Given the description of an element on the screen output the (x, y) to click on. 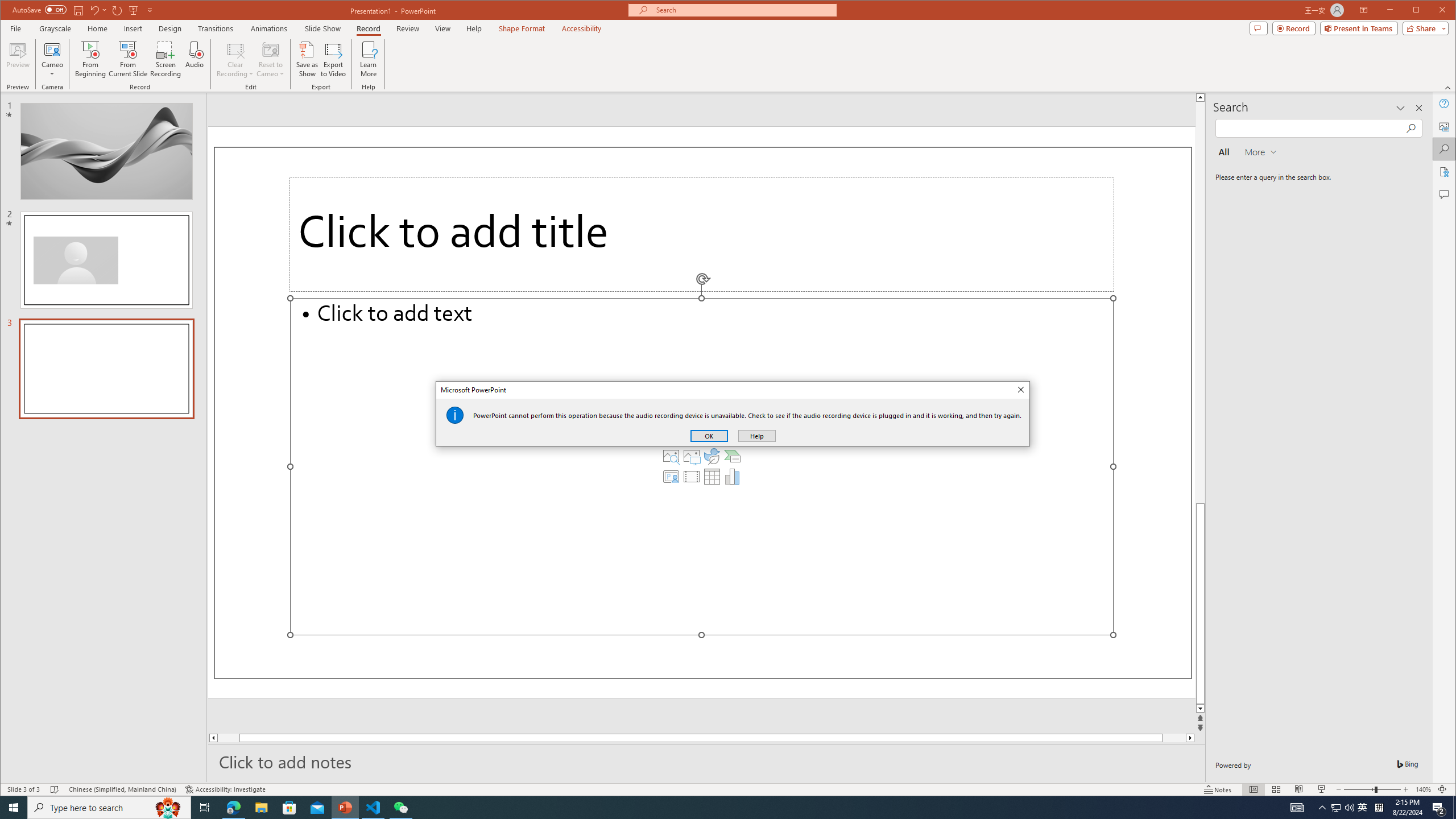
Learn More (368, 59)
OK (709, 435)
